Given the description of an element on the screen output the (x, y) to click on. 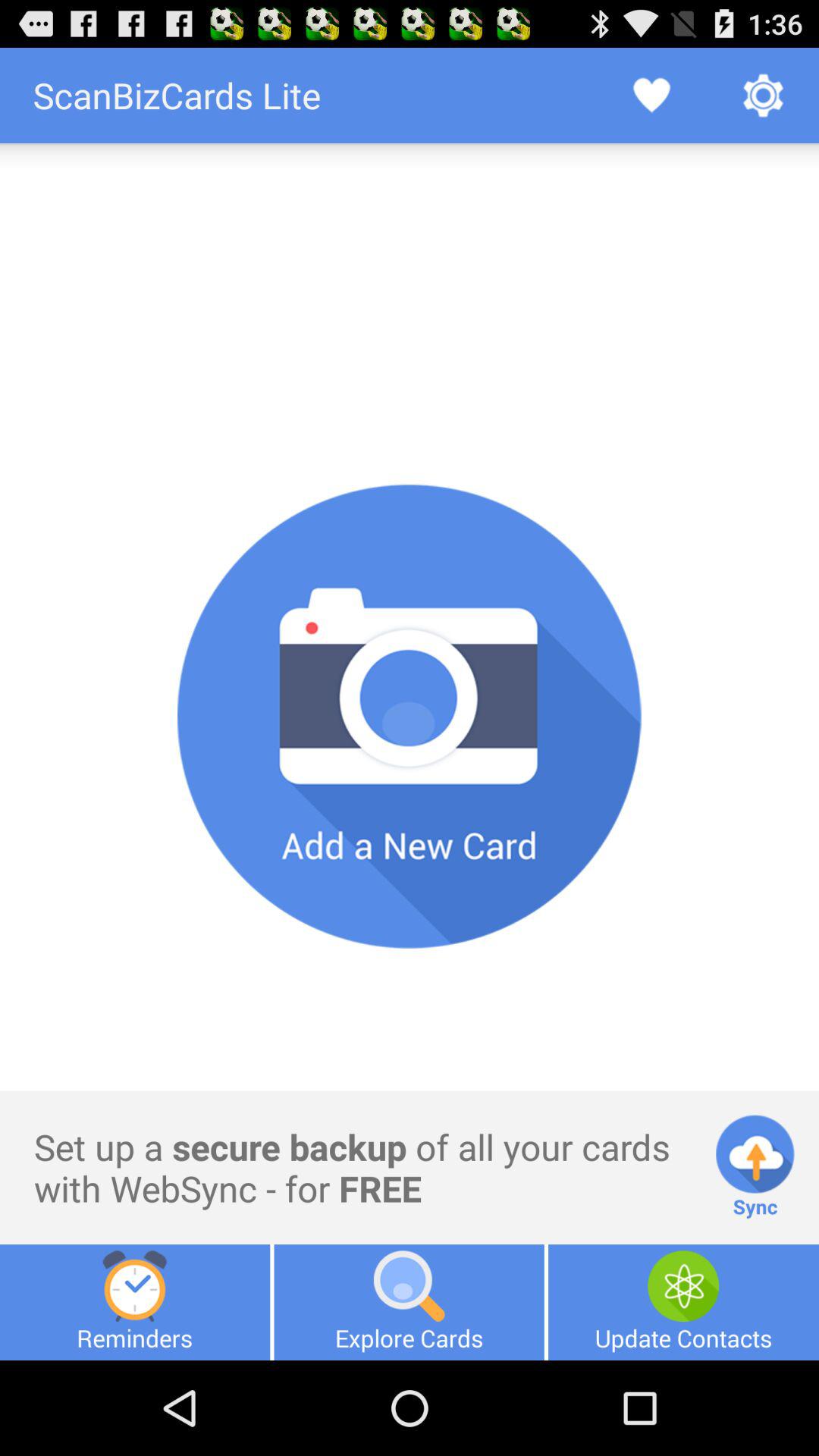
scroll until update contacts button (683, 1302)
